Given the description of an element on the screen output the (x, y) to click on. 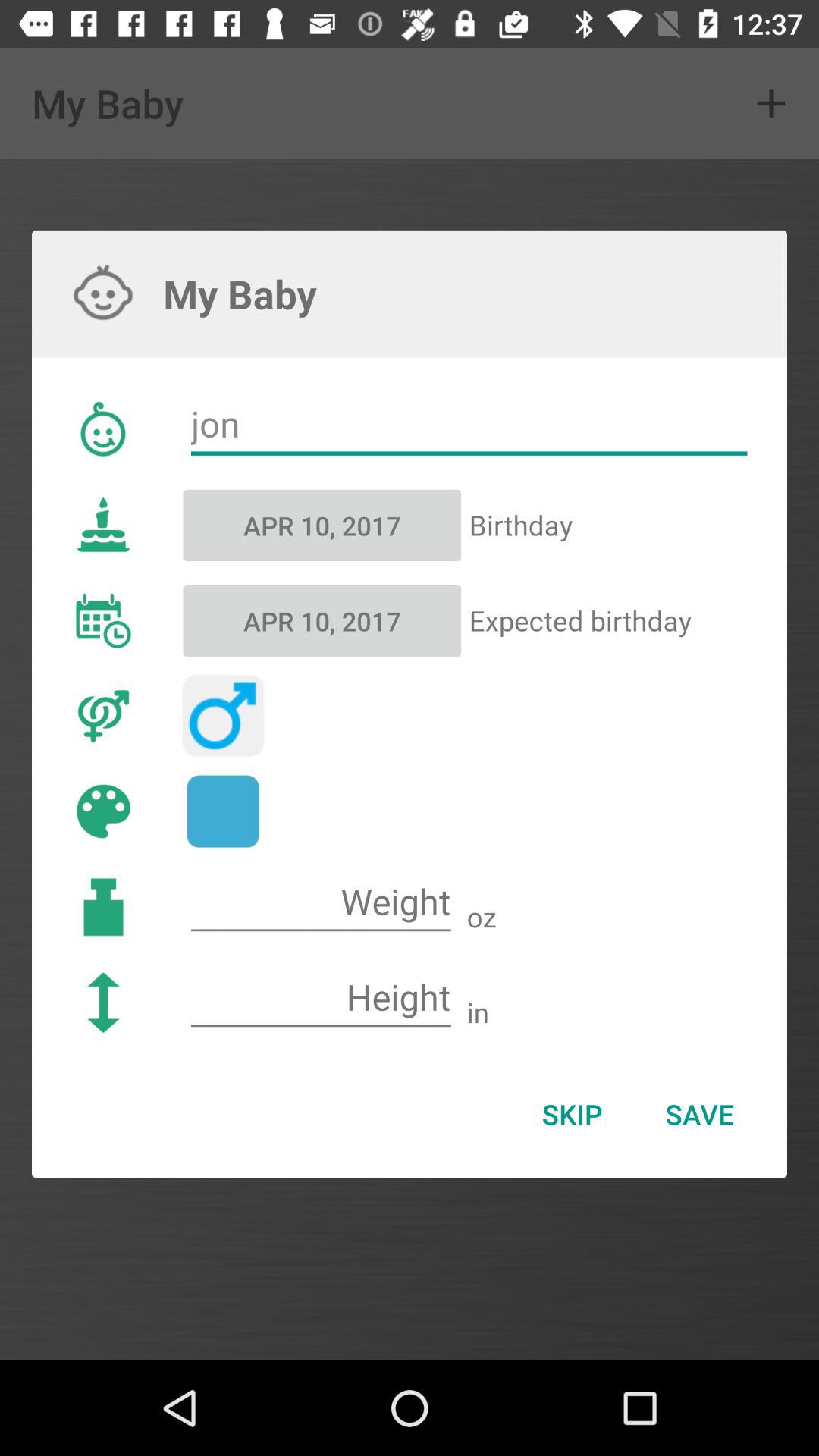
open icon next to the save (571, 1113)
